Given the description of an element on the screen output the (x, y) to click on. 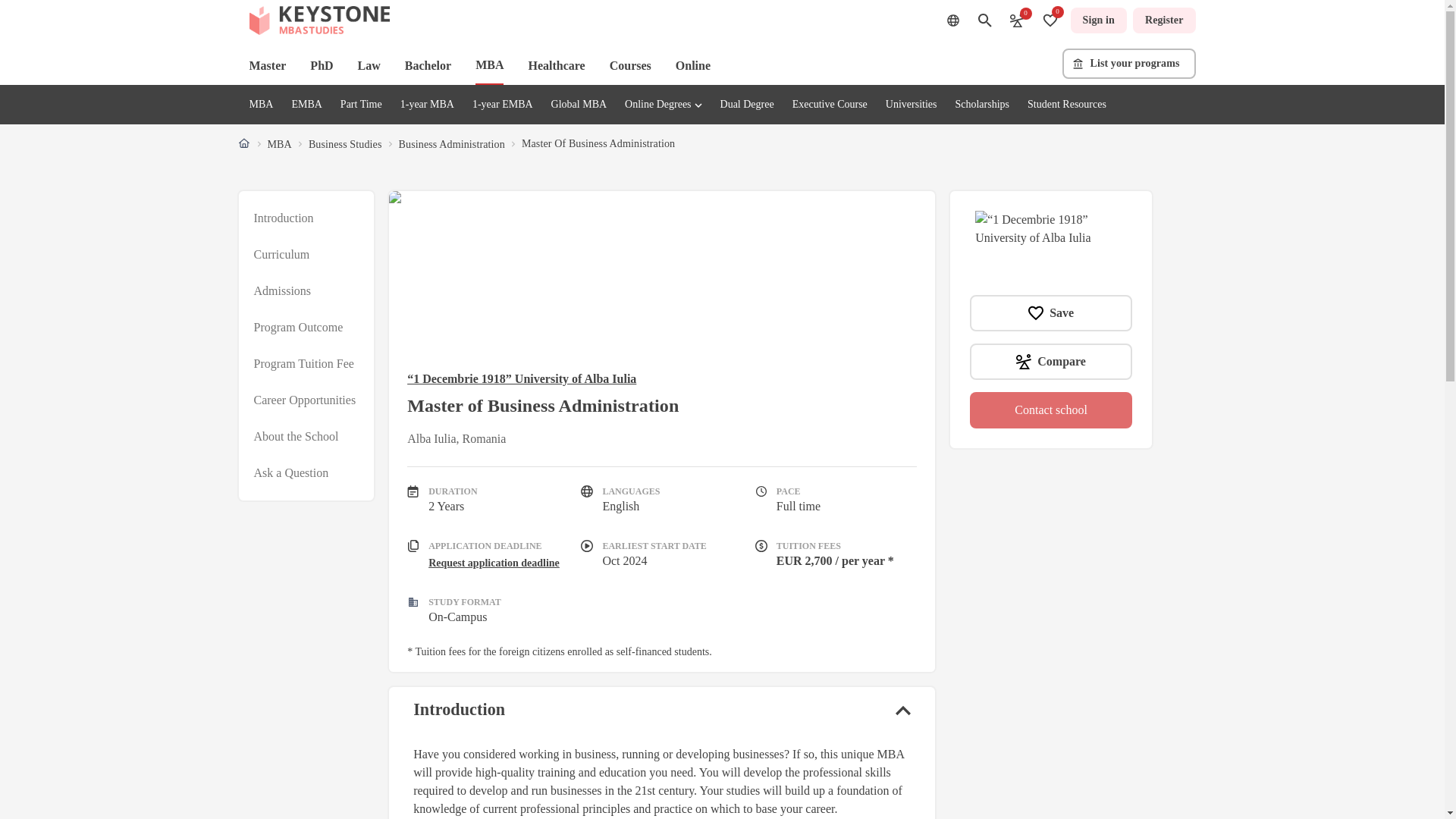
List your programs (1128, 63)
Dual Degree (747, 103)
1-year EMBA (501, 103)
Part Time (360, 103)
Courses (630, 65)
Program Outcome (297, 327)
Global MBA (579, 103)
Healthcare (556, 65)
Program Tuition Fee (303, 363)
